Given the description of an element on the screen output the (x, y) to click on. 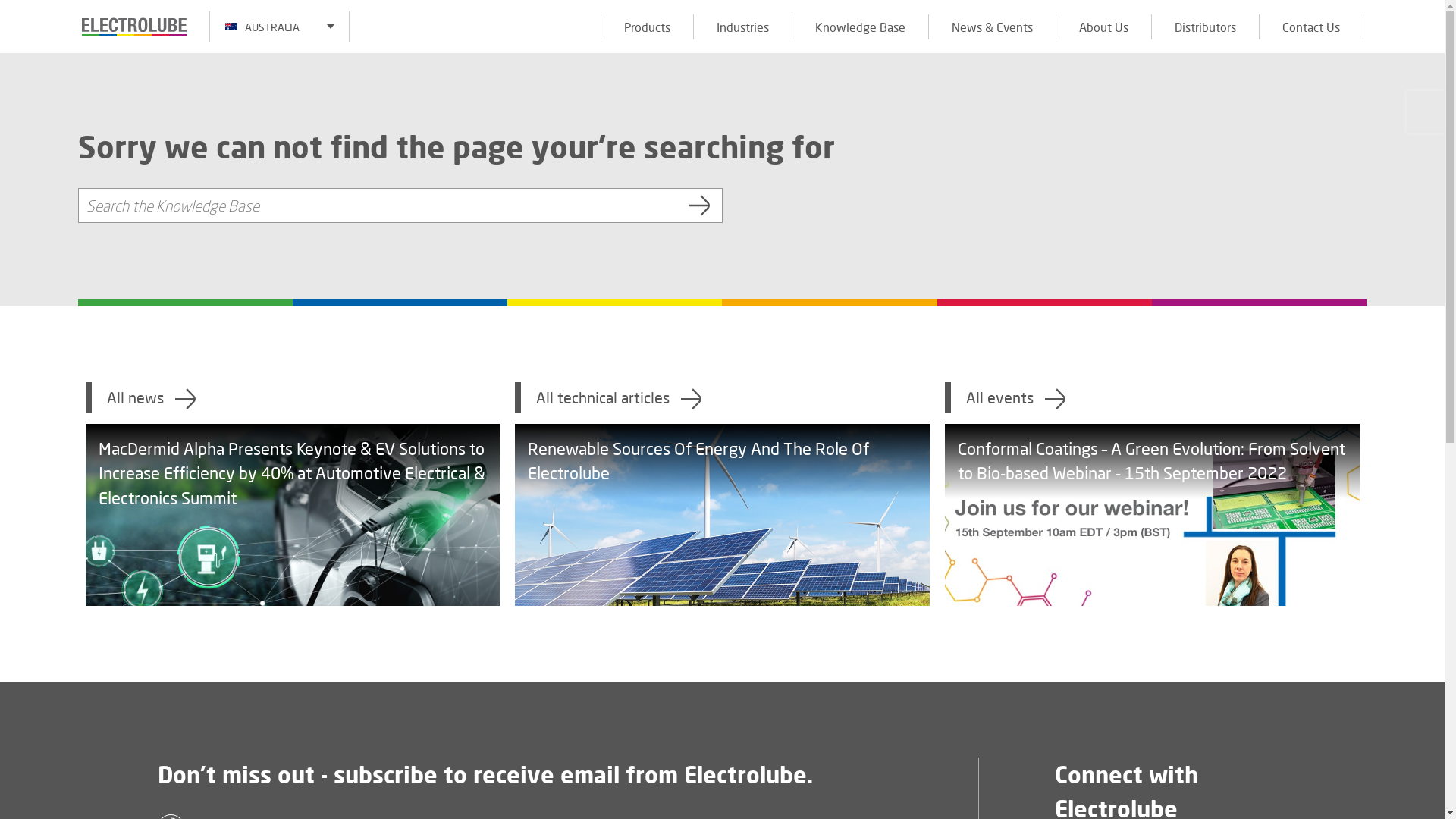
Products Element type: text (646, 25)
All events Element type: text (1151, 397)
All technical articles Element type: text (721, 397)
All news Element type: text (291, 397)
Go Element type: text (700, 205)
Distributors Element type: text (1204, 25)
Knowledge Base Element type: text (859, 25)
About Us Element type: text (1103, 25)
Contact Us Element type: text (1310, 25)
Renewable Sources Of Energy And The Role Of Electrolube Element type: text (721, 514)
Industries Element type: text (742, 25)
AUSTRALIA Element type: text (278, 25)
AUSTRALIA Element type: text (279, 25)
News & Events Element type: text (991, 25)
